Given the description of an element on the screen output the (x, y) to click on. 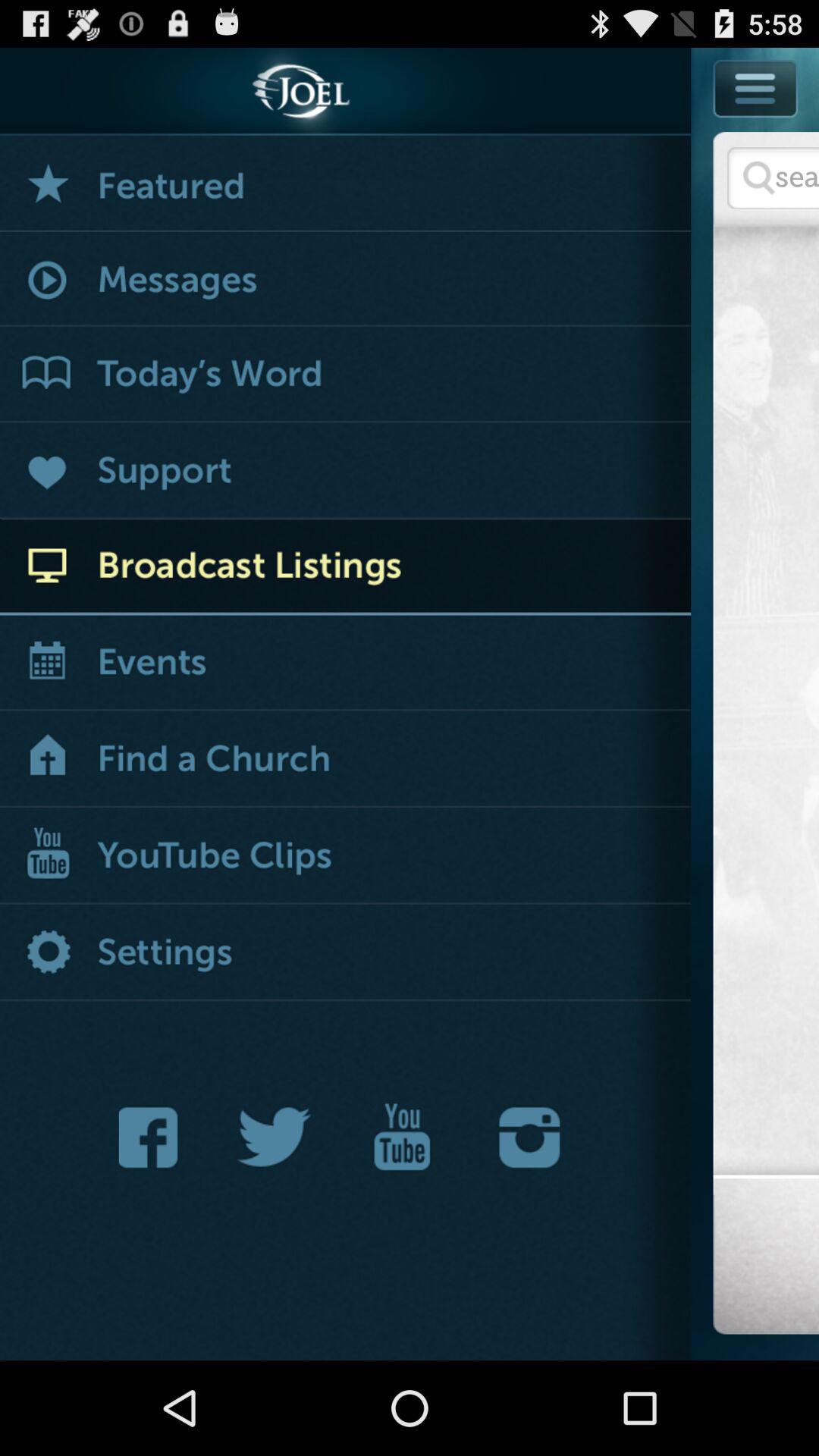
shows favorited items (345, 183)
